Given the description of an element on the screen output the (x, y) to click on. 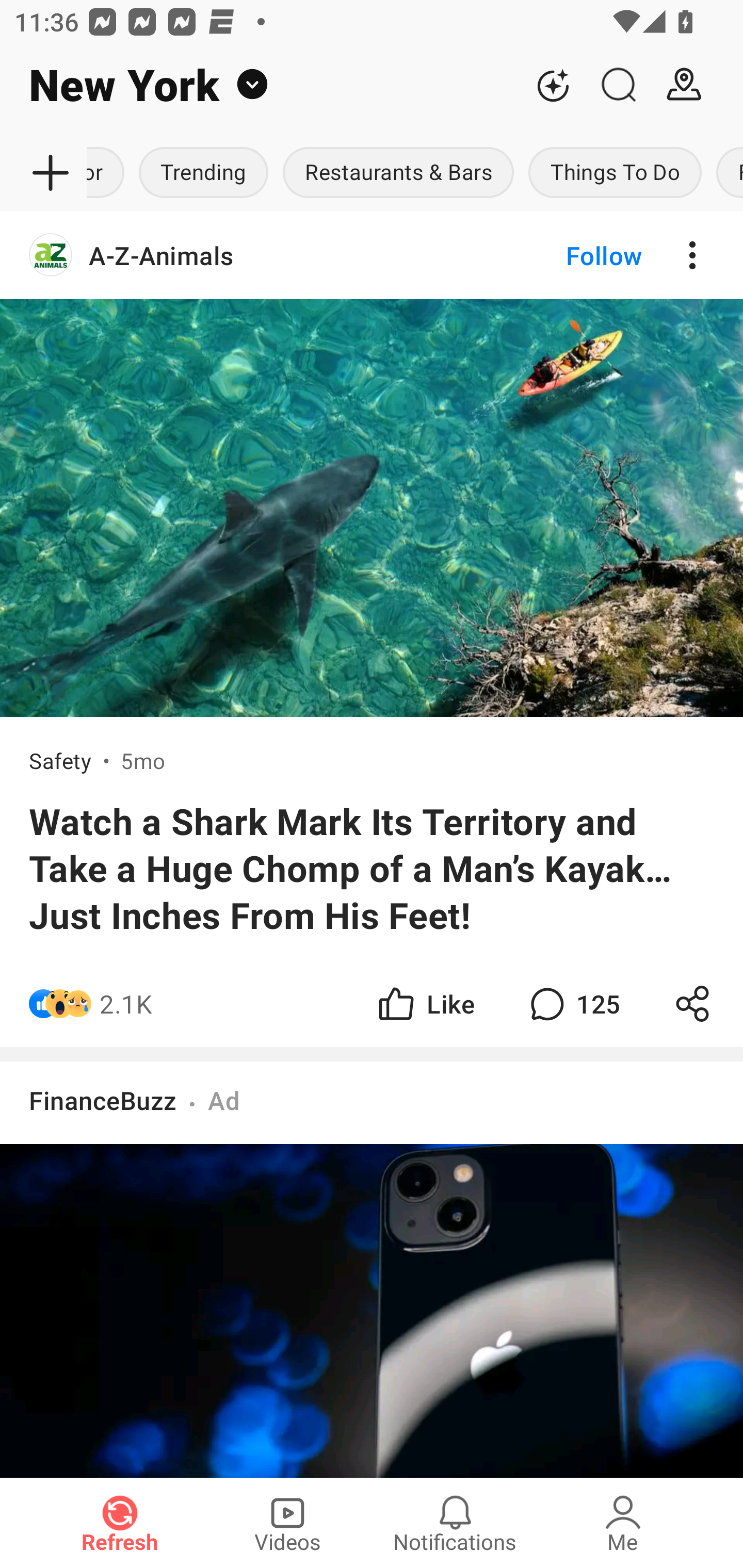
New York (260, 84)
Trending (203, 172)
Restaurants & Bars (397, 172)
Things To Do (614, 172)
A-Z-Animals Follow (371, 255)
Follow (569, 255)
2.1K (125, 1003)
Like (425, 1003)
125 (572, 1003)
FinanceBuzz (102, 1099)
Videos (287, 1522)
Notifications (455, 1522)
Me (622, 1522)
